Given the description of an element on the screen output the (x, y) to click on. 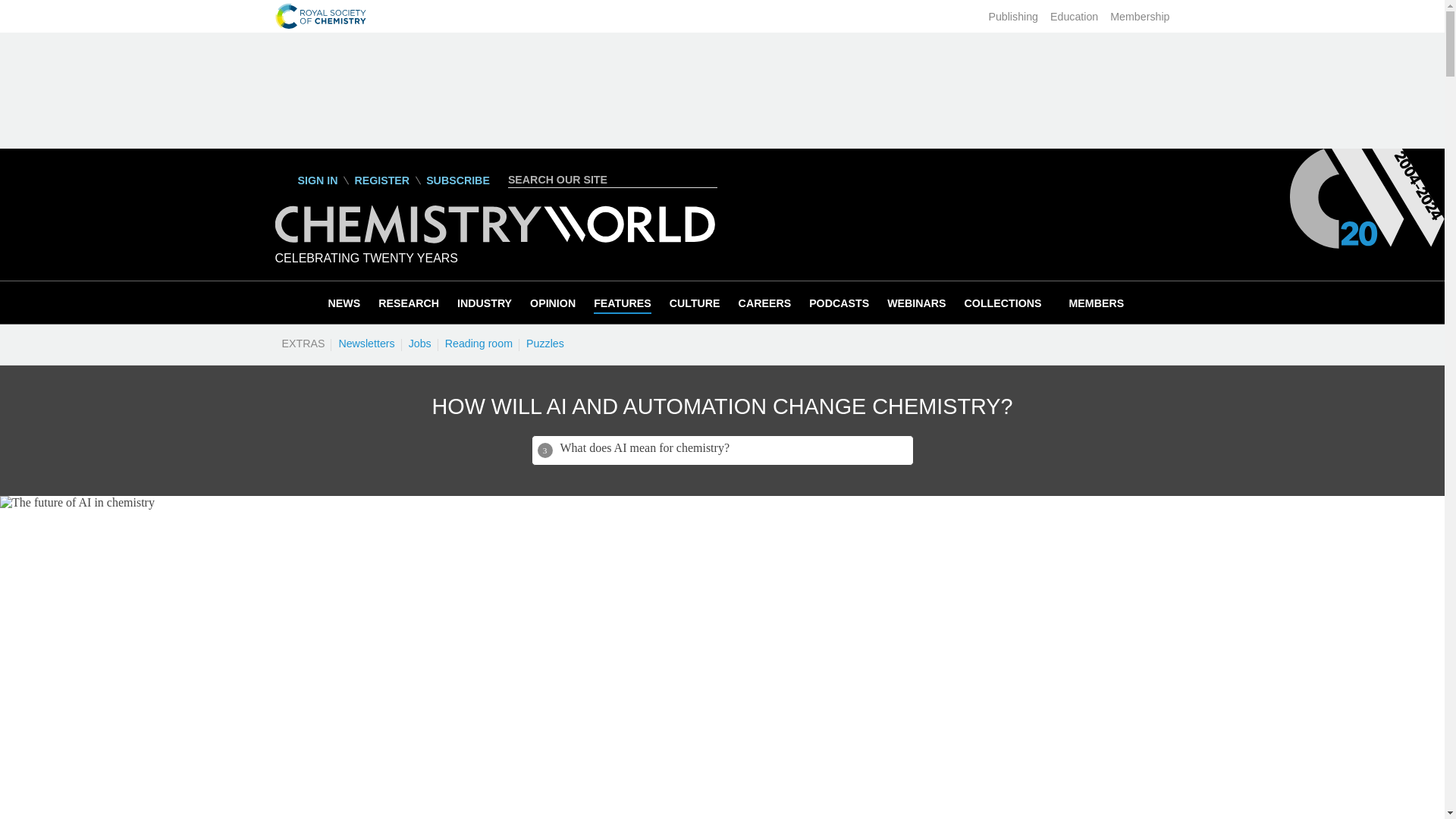
Chemistry World (494, 238)
Reading room (478, 343)
SIGN IN (306, 180)
Newsletters (366, 343)
REGISTER (381, 180)
Jobs (419, 343)
Membership (1139, 16)
SUBSCRIBE (457, 180)
SEARCH (708, 179)
Publishing (1013, 16)
Education (1073, 16)
Puzzles (544, 343)
Chemistry World (494, 224)
